Given the description of an element on the screen output the (x, y) to click on. 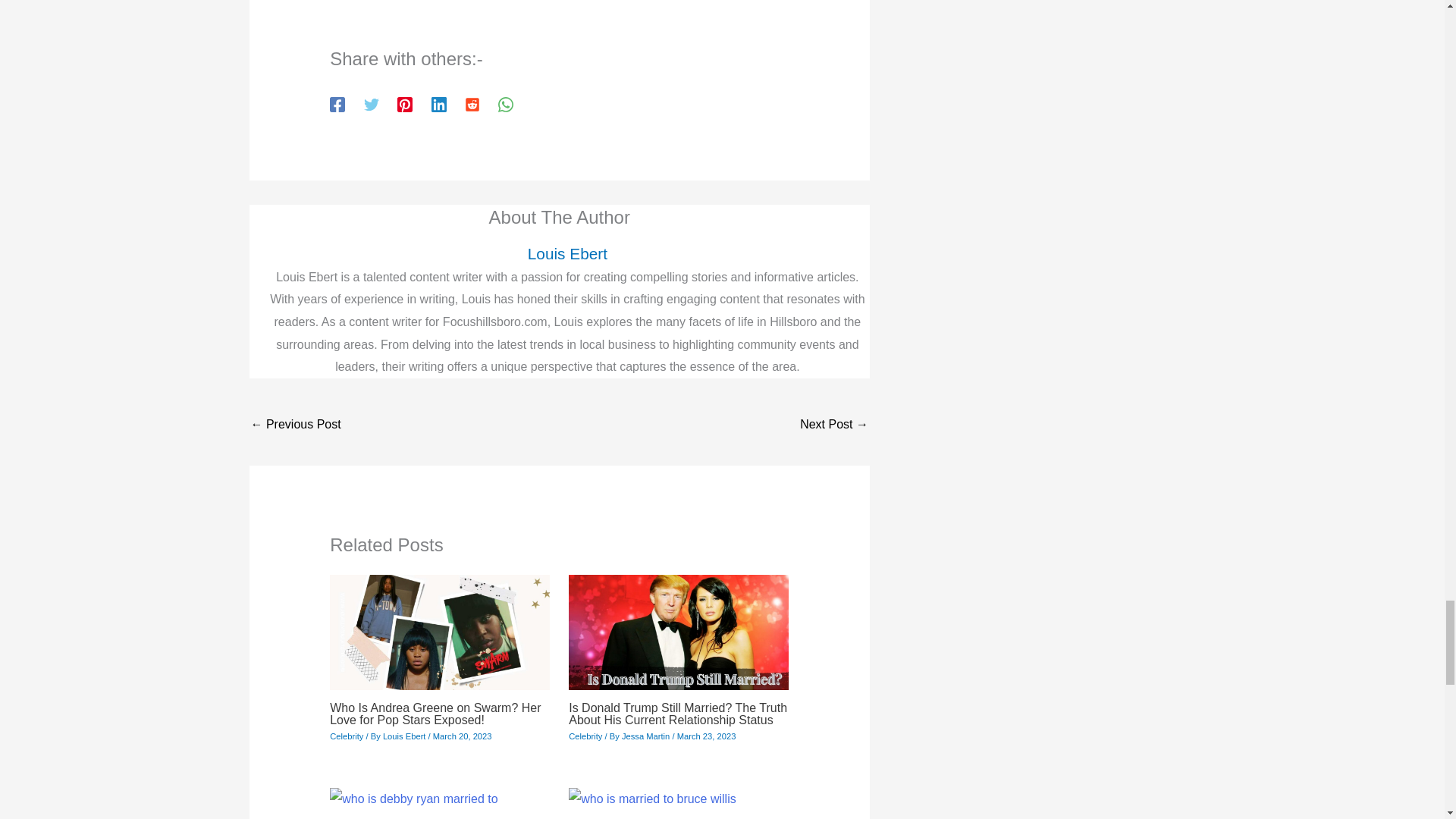
View all posts by Jessa Martin (646, 736)
Louis Ebert (405, 736)
Celebrity (346, 736)
View all posts by Louis Ebert (405, 736)
Louis Ebert (566, 253)
